Given the description of an element on the screen output the (x, y) to click on. 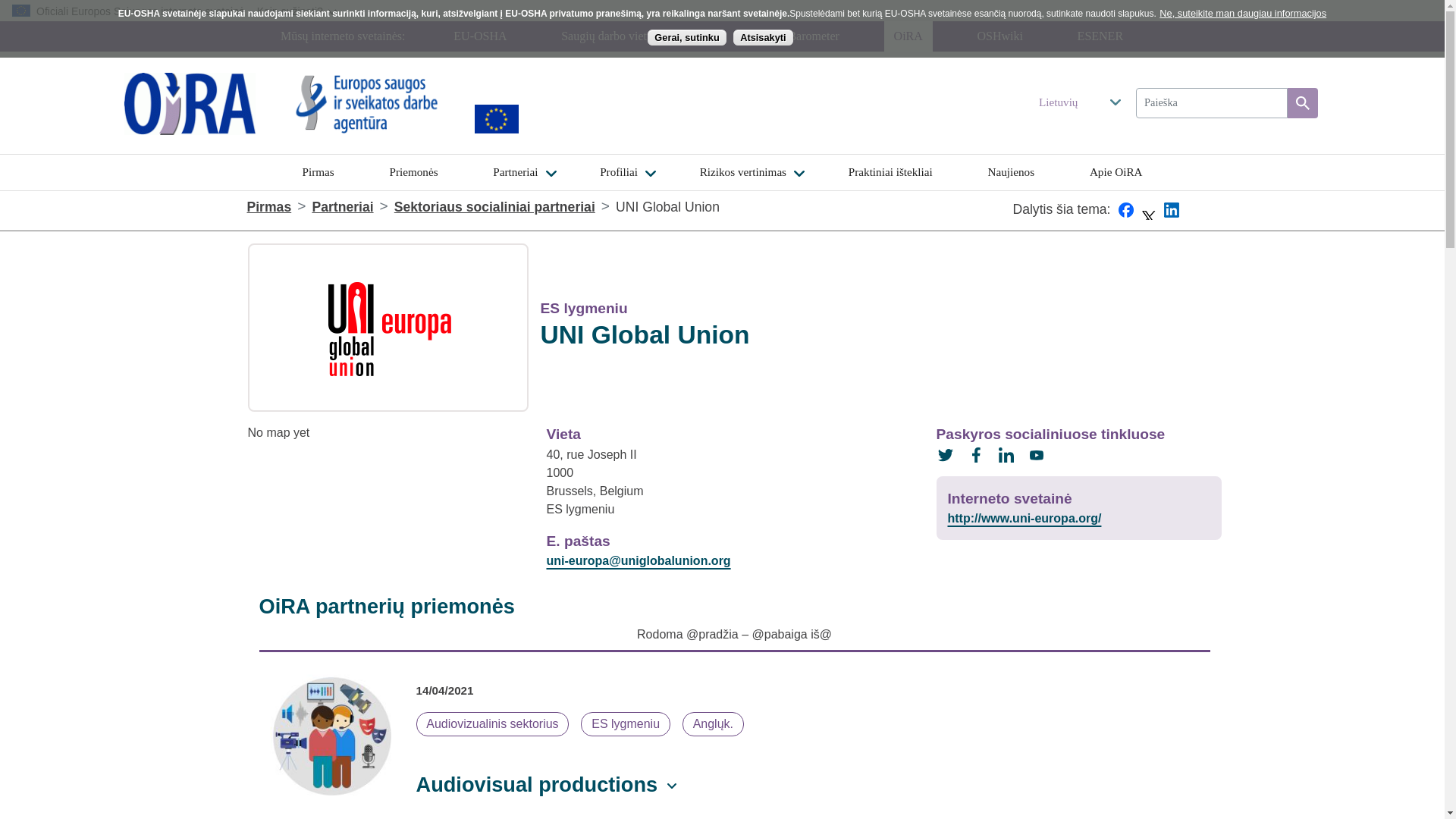
Twitter (1148, 217)
ESENER (1099, 36)
OSHwiki (1000, 36)
OSH Barometer (799, 36)
EU-OSHA corporate website (369, 103)
Apply (1302, 102)
Gerai, sutinku (686, 37)
Facebook (1126, 217)
LinkedIn (1171, 217)
Partneriai (515, 171)
Atsisakyti (762, 37)
Ne, suteikite man daugiau informacijos (1242, 12)
Image (369, 103)
EU-OSHA (480, 36)
Pirmas (317, 171)
